Given the description of an element on the screen output the (x, y) to click on. 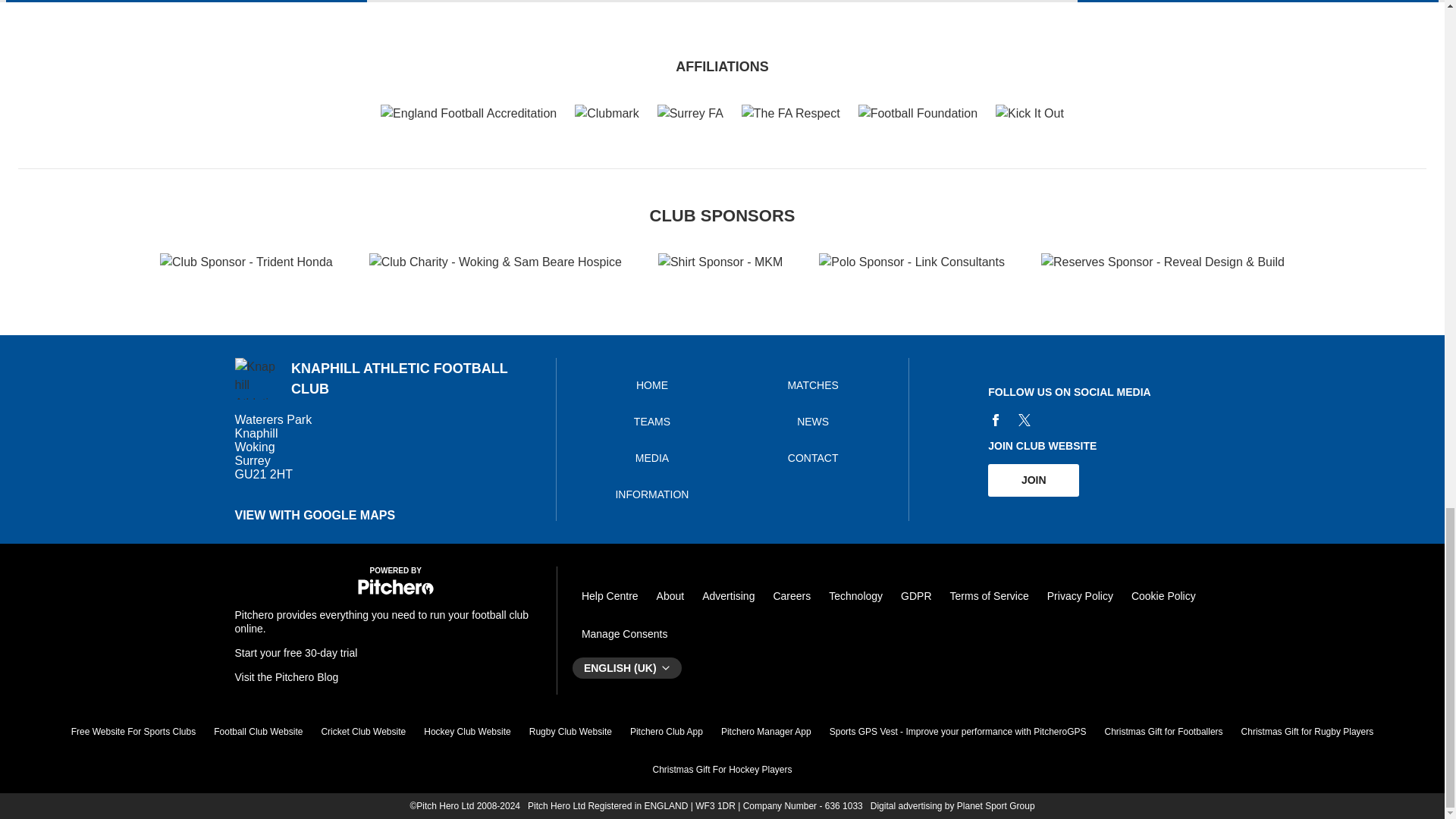
Polo Sponsor - Link Consultants (911, 262)
Pitchero (395, 590)
Club Sponsor - Trident Honda (246, 262)
